Given the description of an element on the screen output the (x, y) to click on. 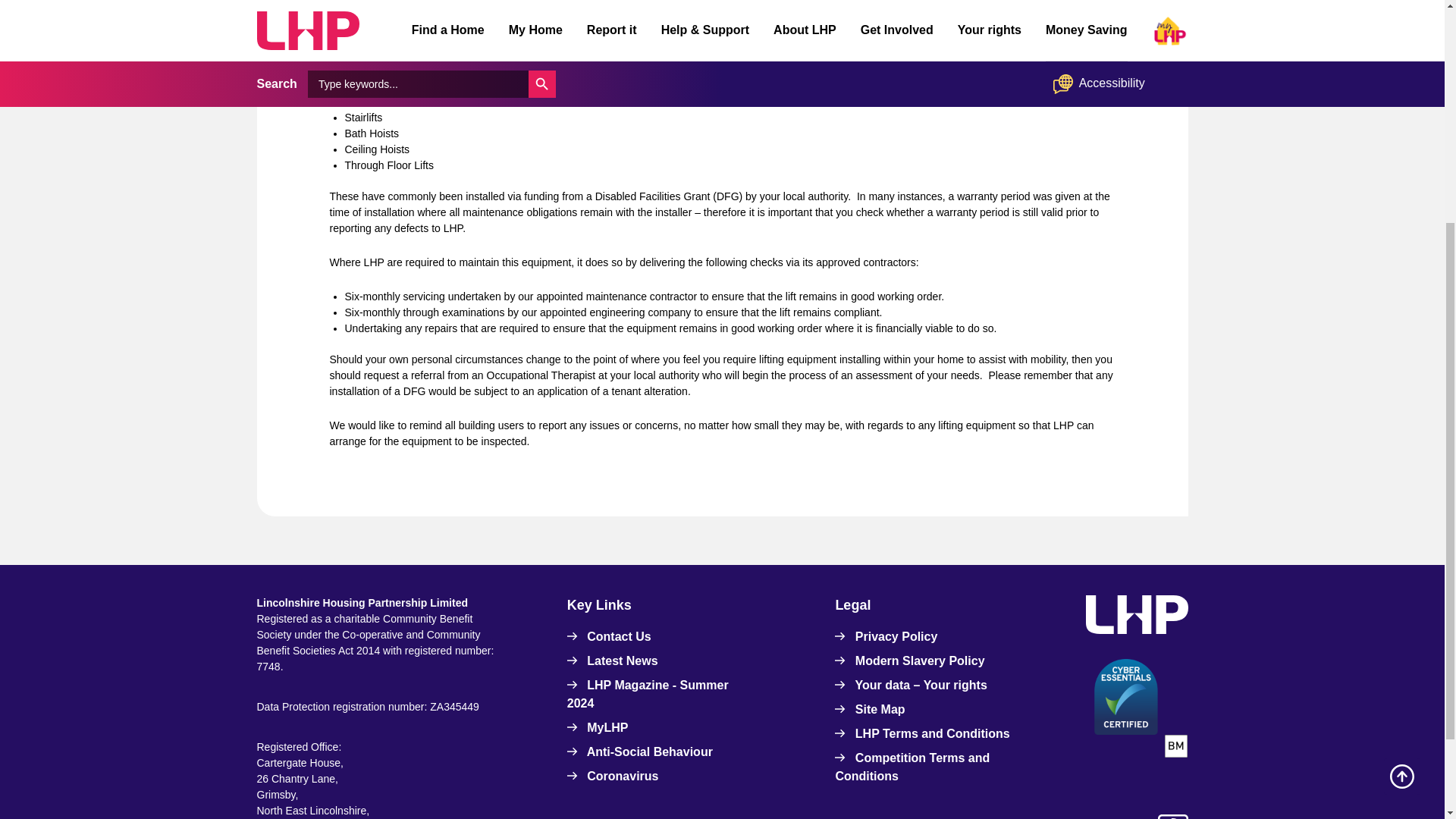
Go to top (1402, 440)
